Given the description of an element on the screen output the (x, y) to click on. 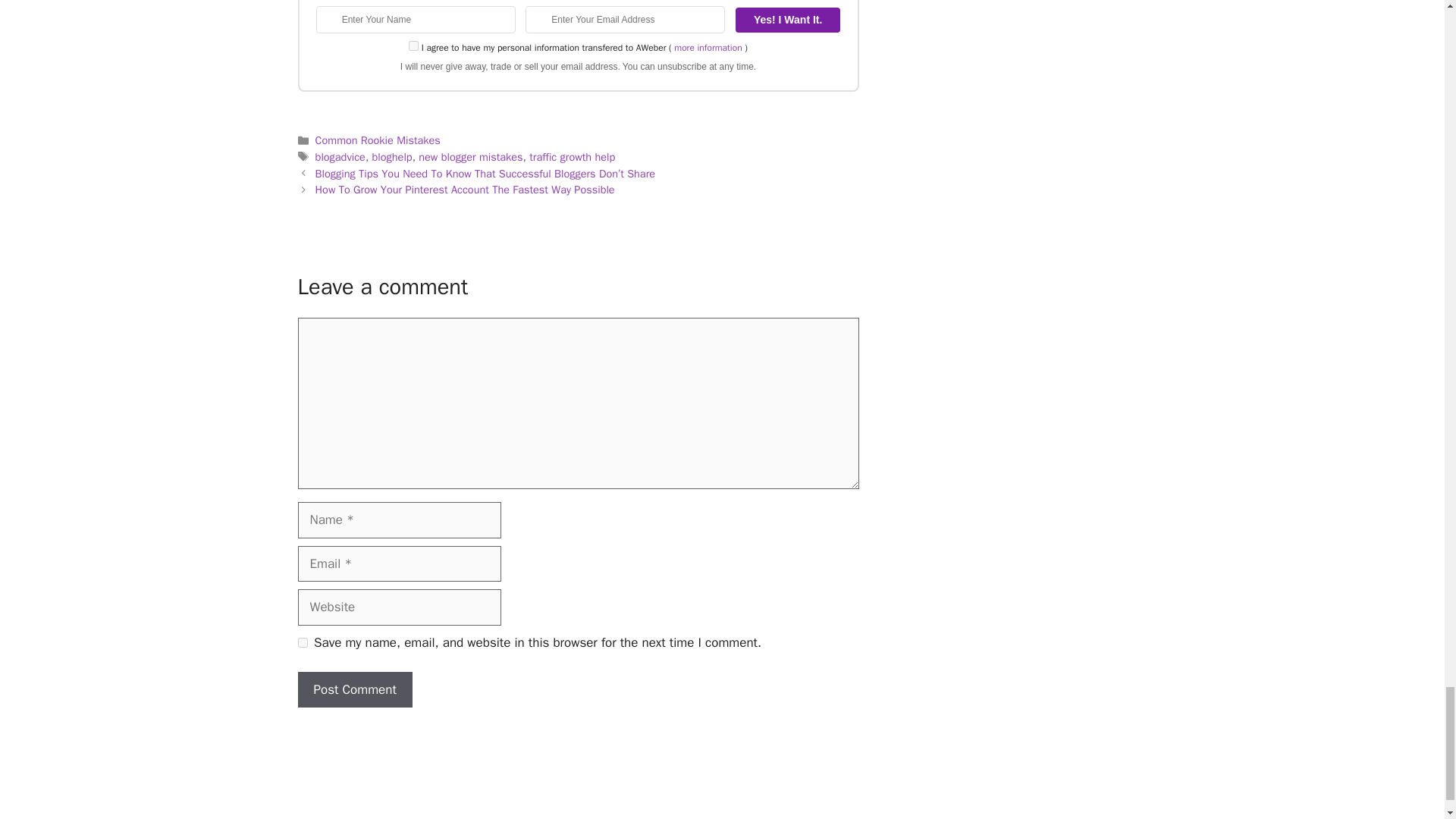
yes (302, 642)
Common Rookie Mistakes (378, 140)
blogadvice (340, 156)
on (414, 45)
more information (707, 47)
new blogger mistakes (470, 156)
Post Comment (354, 689)
bloghelp (392, 156)
traffic growth help (571, 156)
Yes! I Want It. (787, 19)
